Given the description of an element on the screen output the (x, y) to click on. 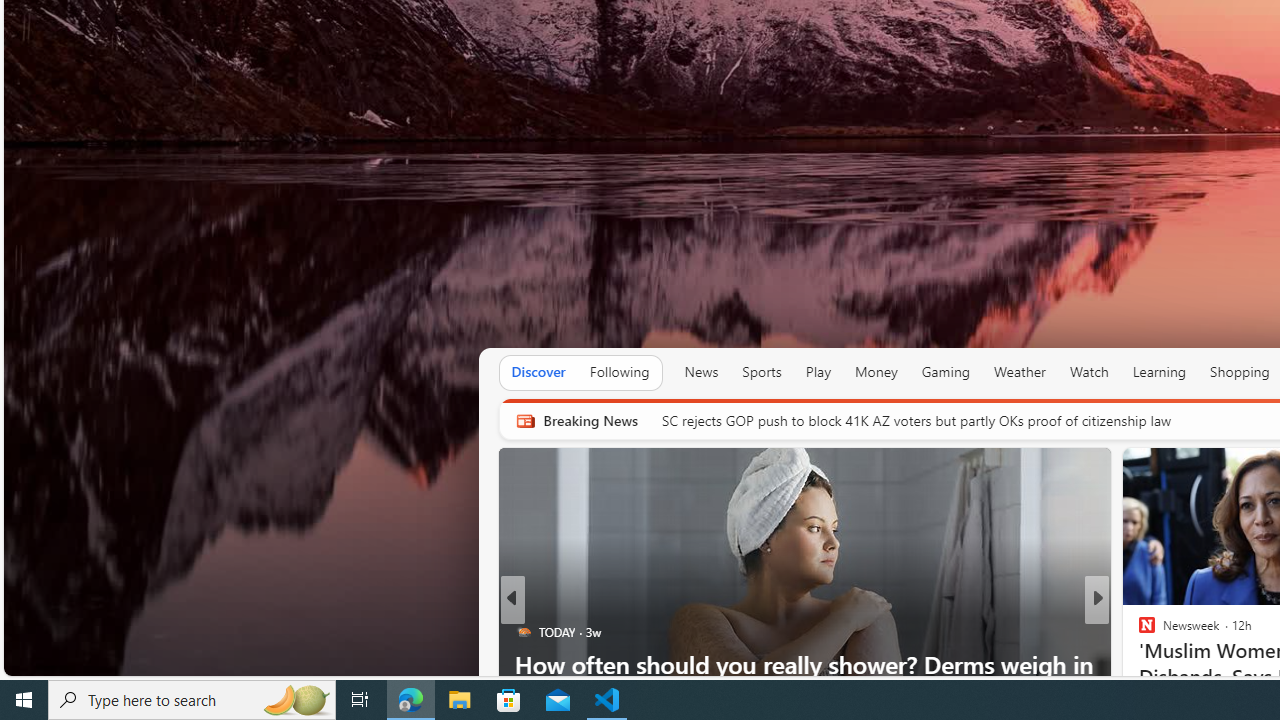
Money Talks News (1138, 632)
Shopping (1240, 371)
TODAY (522, 632)
The Takeout (1138, 632)
save70.com (1161, 663)
Gaming (945, 371)
 UPI News (1138, 632)
Money (876, 372)
Metro (1138, 632)
Learning (1159, 371)
Weather (1019, 372)
Constative (1138, 632)
